Given the description of an element on the screen output the (x, y) to click on. 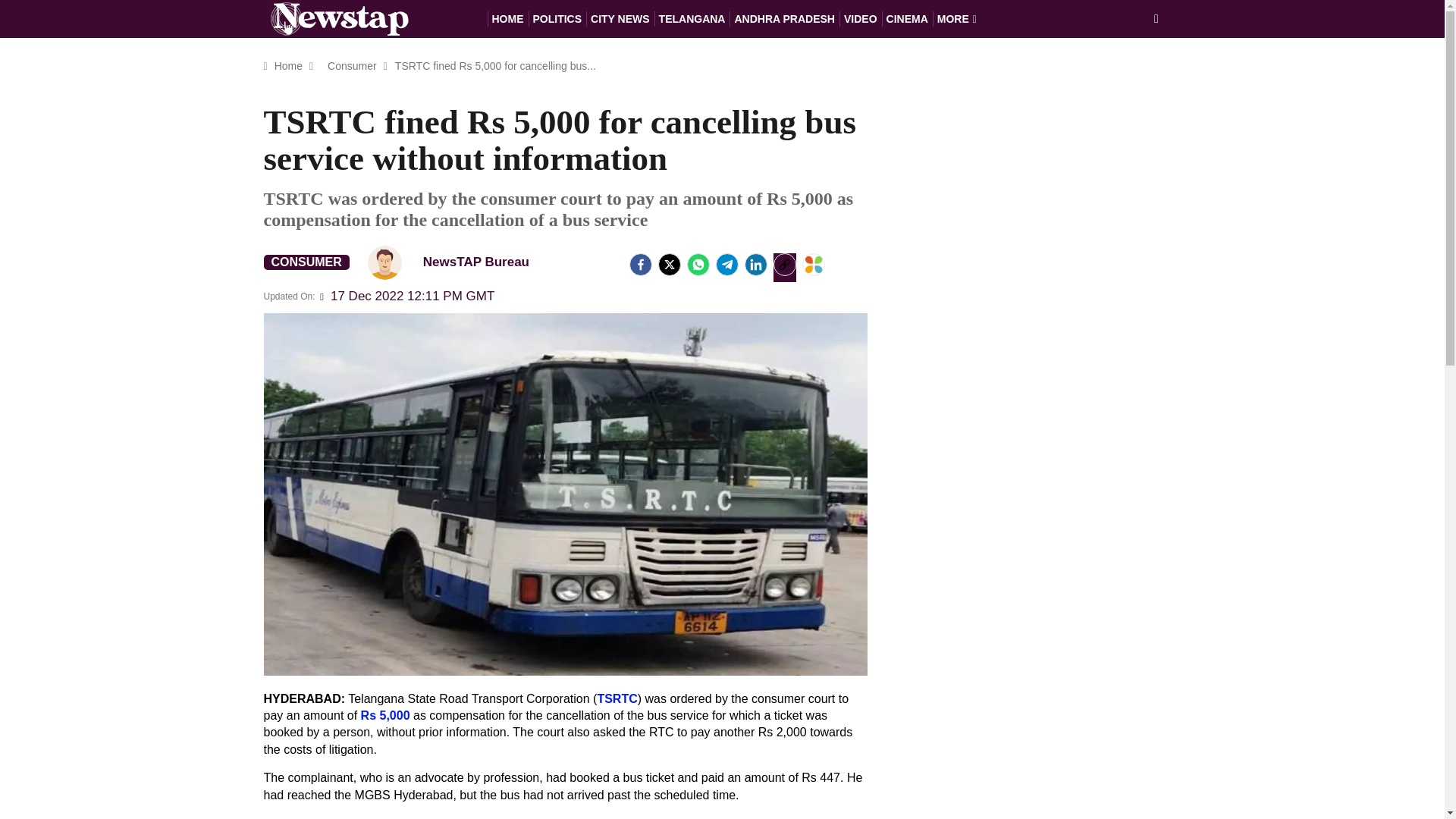
ANDHRA PRADESH (784, 18)
MORE (957, 18)
NewsTAP Bureau (384, 262)
TELANGANA (691, 18)
POLITICS (556, 18)
HOME (506, 18)
Home (287, 65)
LinkedIn (755, 264)
CONSUMER (306, 262)
NewsTAP Bureau (455, 261)
